Given the description of an element on the screen output the (x, y) to click on. 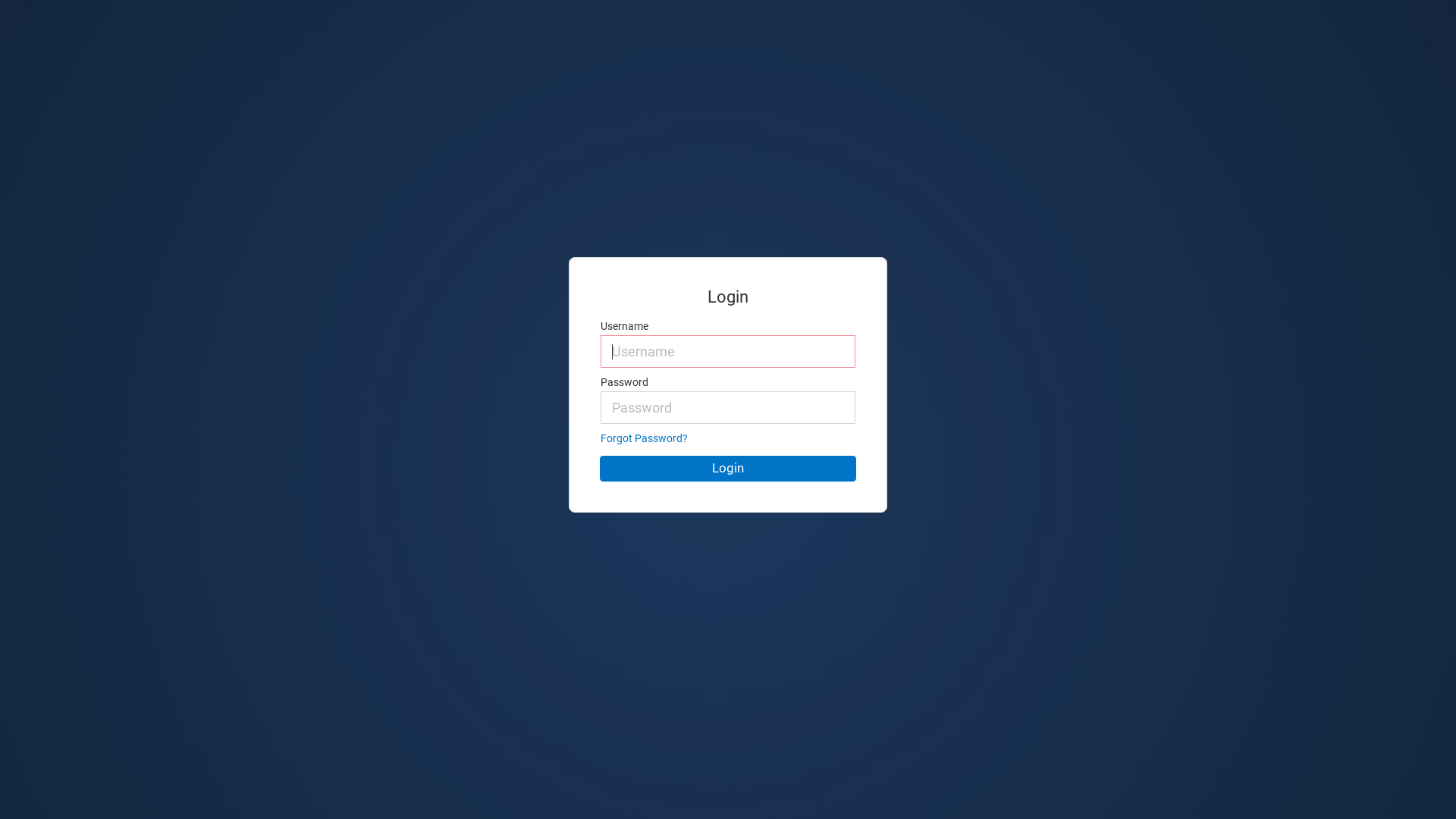
Forgot Password? Element type: text (643, 438)
Login Element type: text (727, 468)
